Given the description of an element on the screen output the (x, y) to click on. 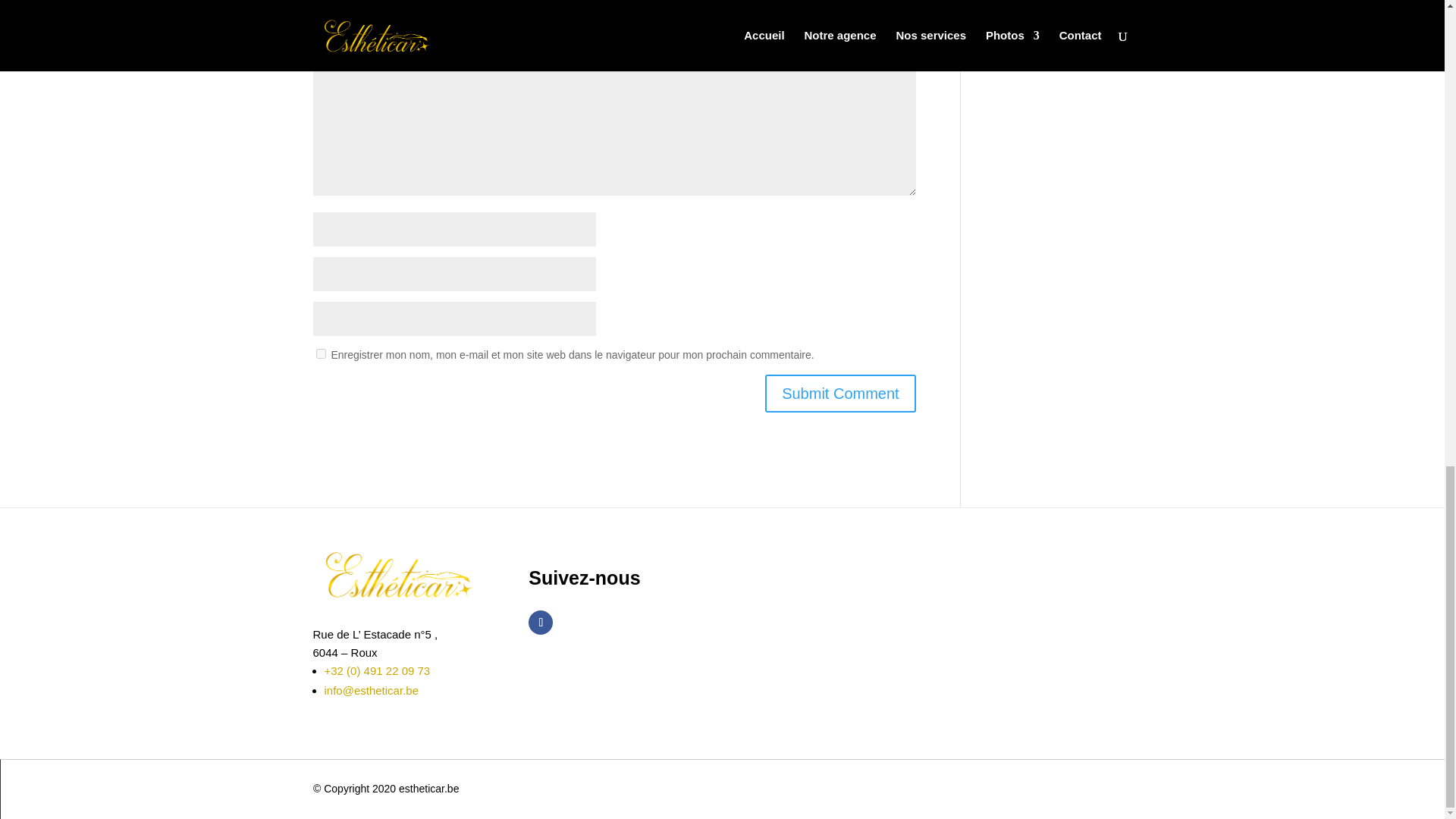
Submit Comment (840, 393)
yes (319, 353)
estheti-will-p (398, 574)
Follow on Facebook (540, 622)
Submit Comment (840, 393)
